Given the description of an element on the screen output the (x, y) to click on. 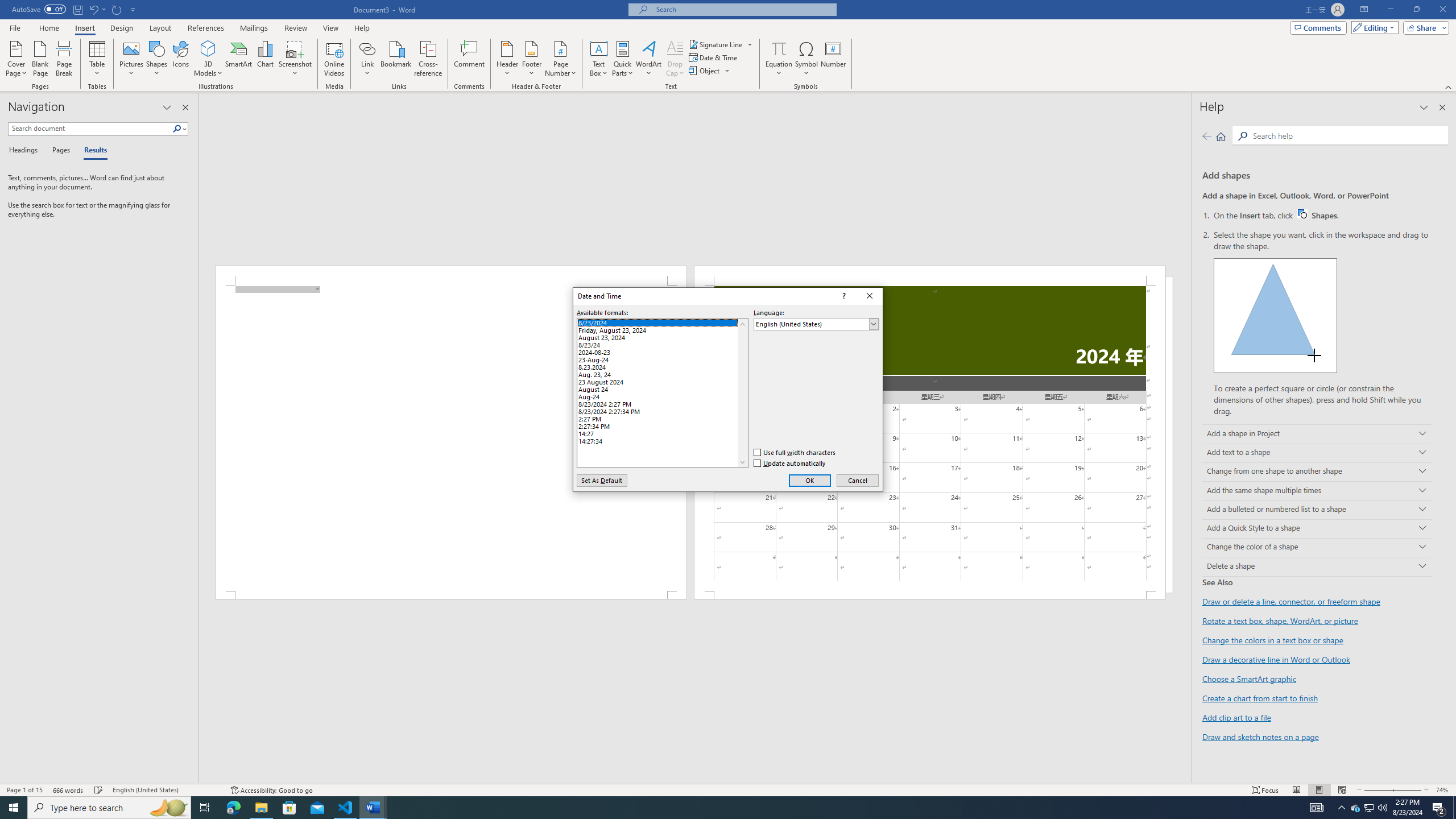
Number... (833, 58)
Add the same shape multiple times (1316, 490)
Undo New Page (92, 9)
Set As Default (601, 480)
Signature Line (721, 44)
Comment (469, 58)
Add a shape in Project (1316, 434)
Chart... (265, 58)
Spelling and Grammar Check Checking (98, 790)
Show desktop (1454, 807)
SmartArt... (238, 58)
